Given the description of an element on the screen output the (x, y) to click on. 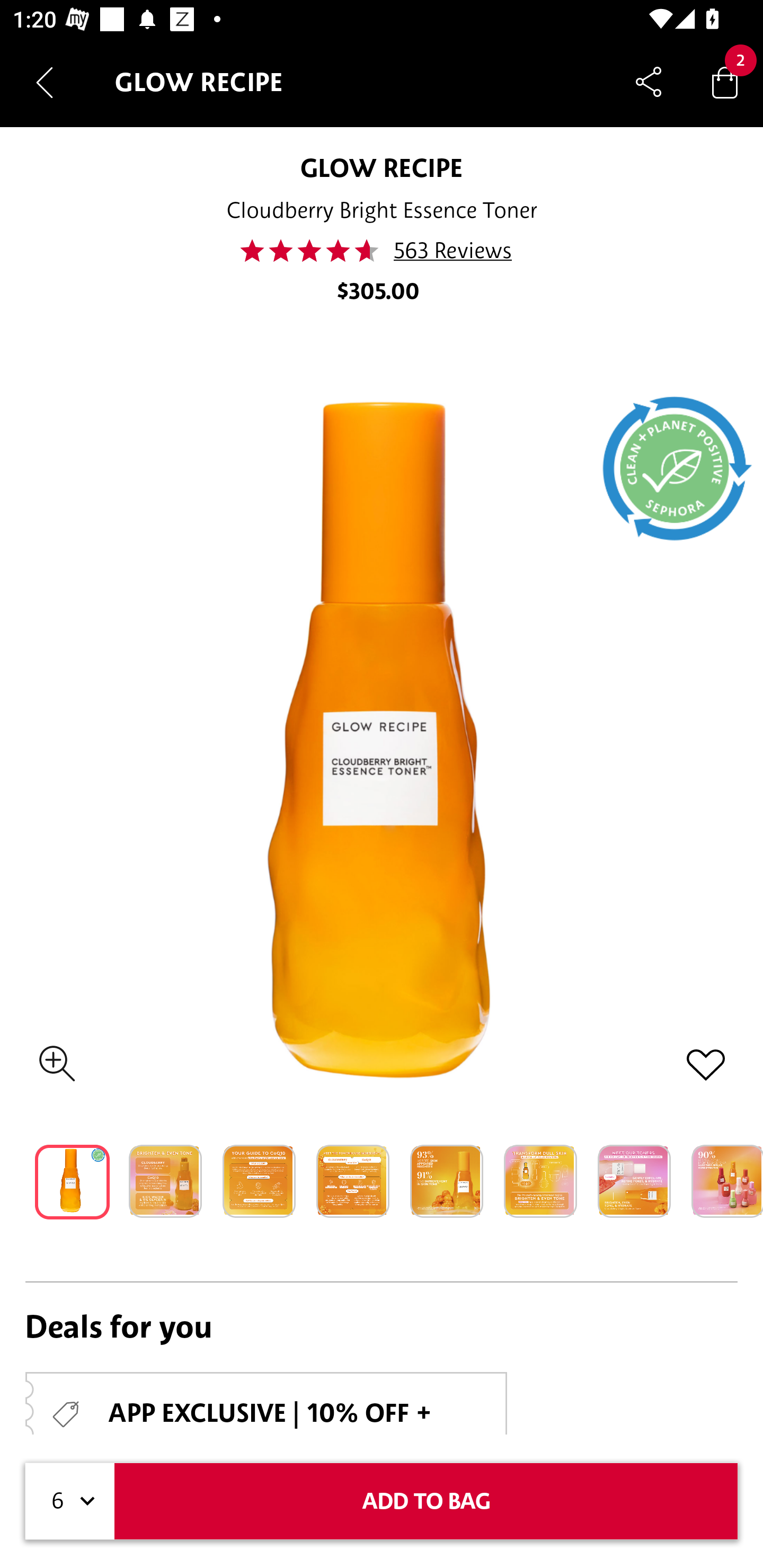
Navigate up (44, 82)
Share (648, 81)
Bag (724, 81)
GLOW RECIPE (381, 167)
46.0 563 Reviews (381, 250)
6 (69, 1500)
ADD TO BAG (425, 1500)
